Given the description of an element on the screen output the (x, y) to click on. 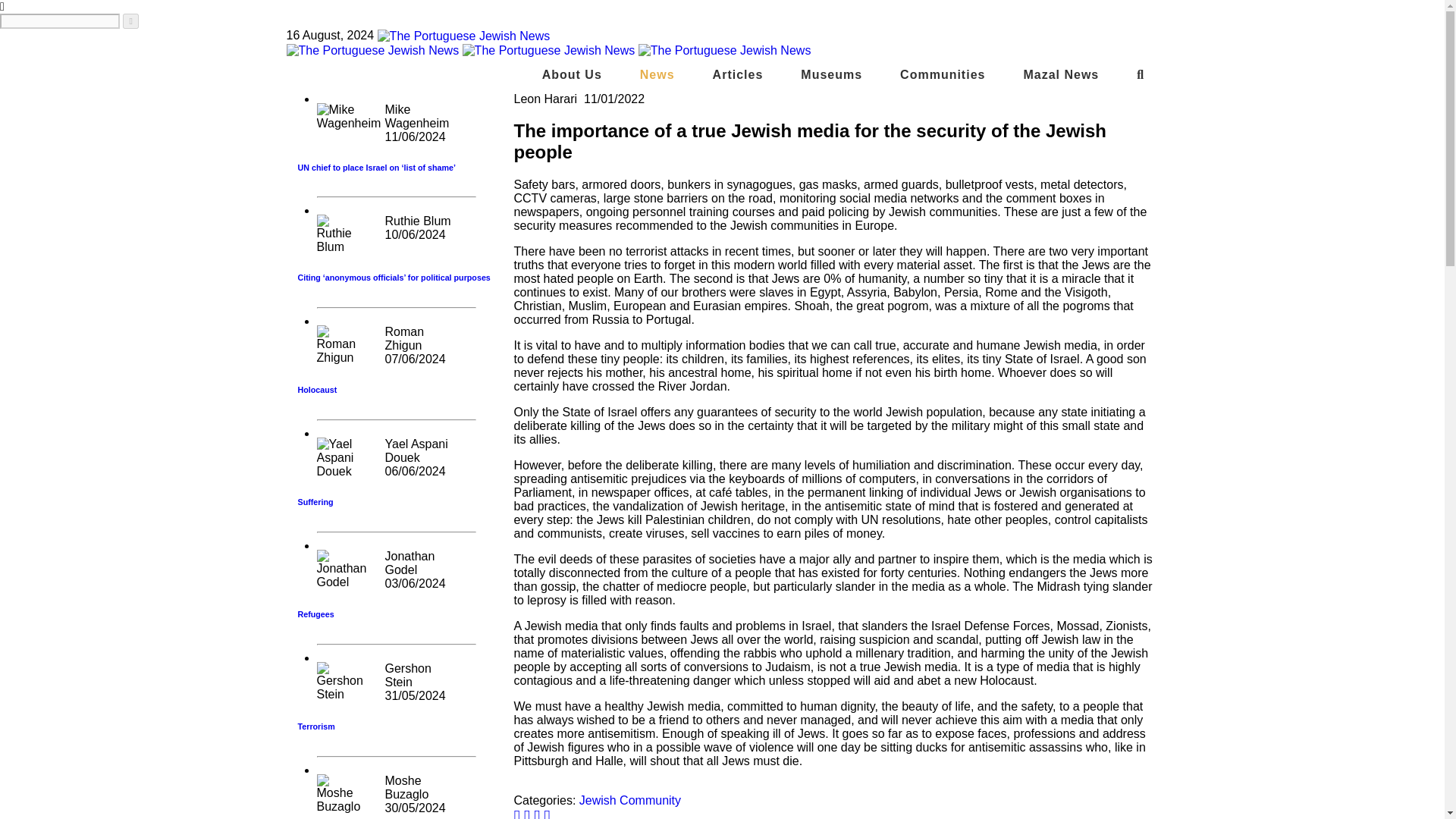
Holocaust (316, 388)
Yael Aspani Douek (416, 450)
Museums (831, 74)
Suffering (315, 501)
About Us (571, 74)
Ruthie Blum (418, 220)
Articles (737, 74)
Mazal News (1060, 74)
Roman Zhigun (405, 338)
Terrorism (315, 726)
